Given the description of an element on the screen output the (x, y) to click on. 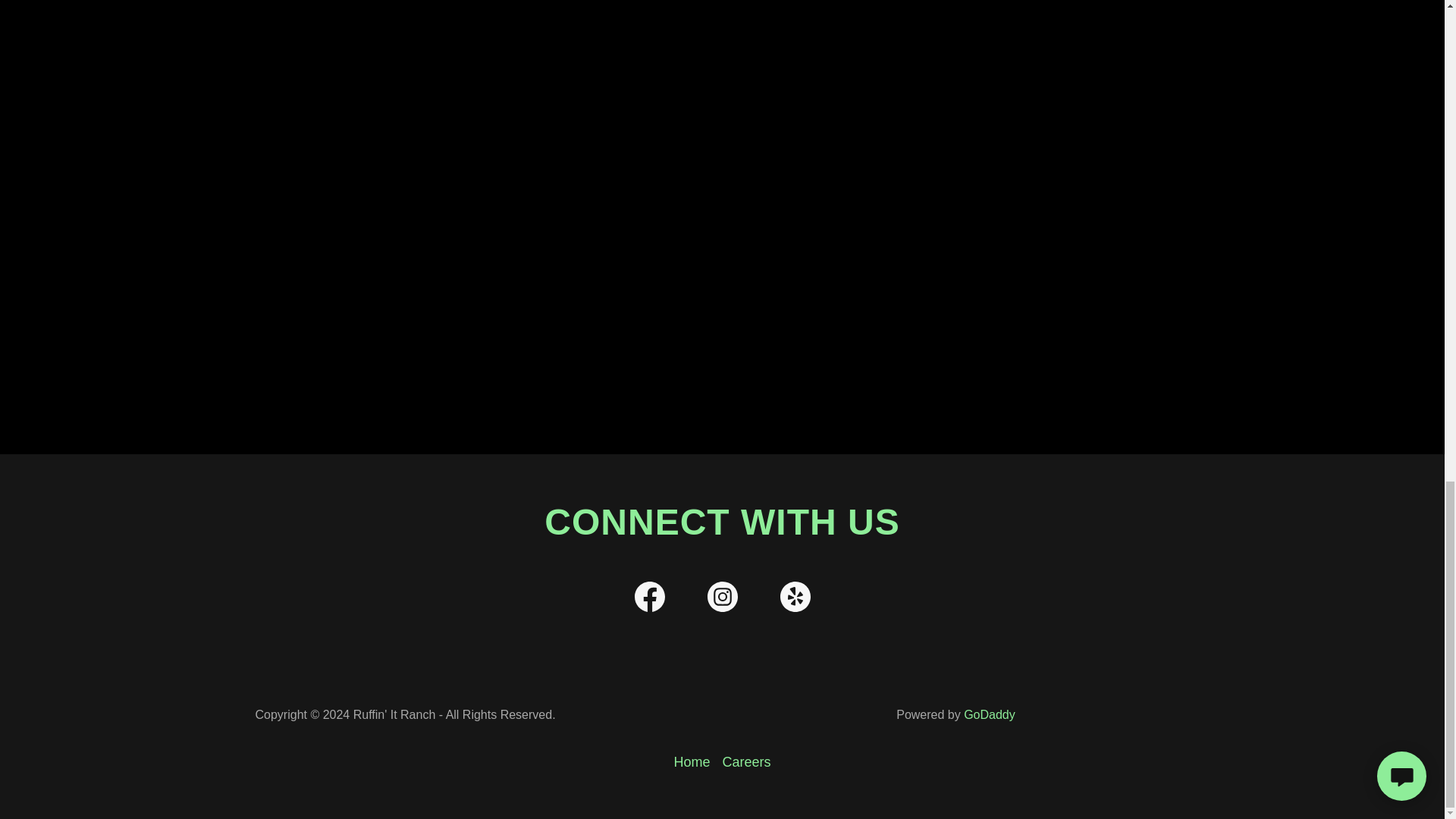
GoDaddy (988, 714)
Careers (746, 762)
Home (691, 762)
